Given the description of an element on the screen output the (x, y) to click on. 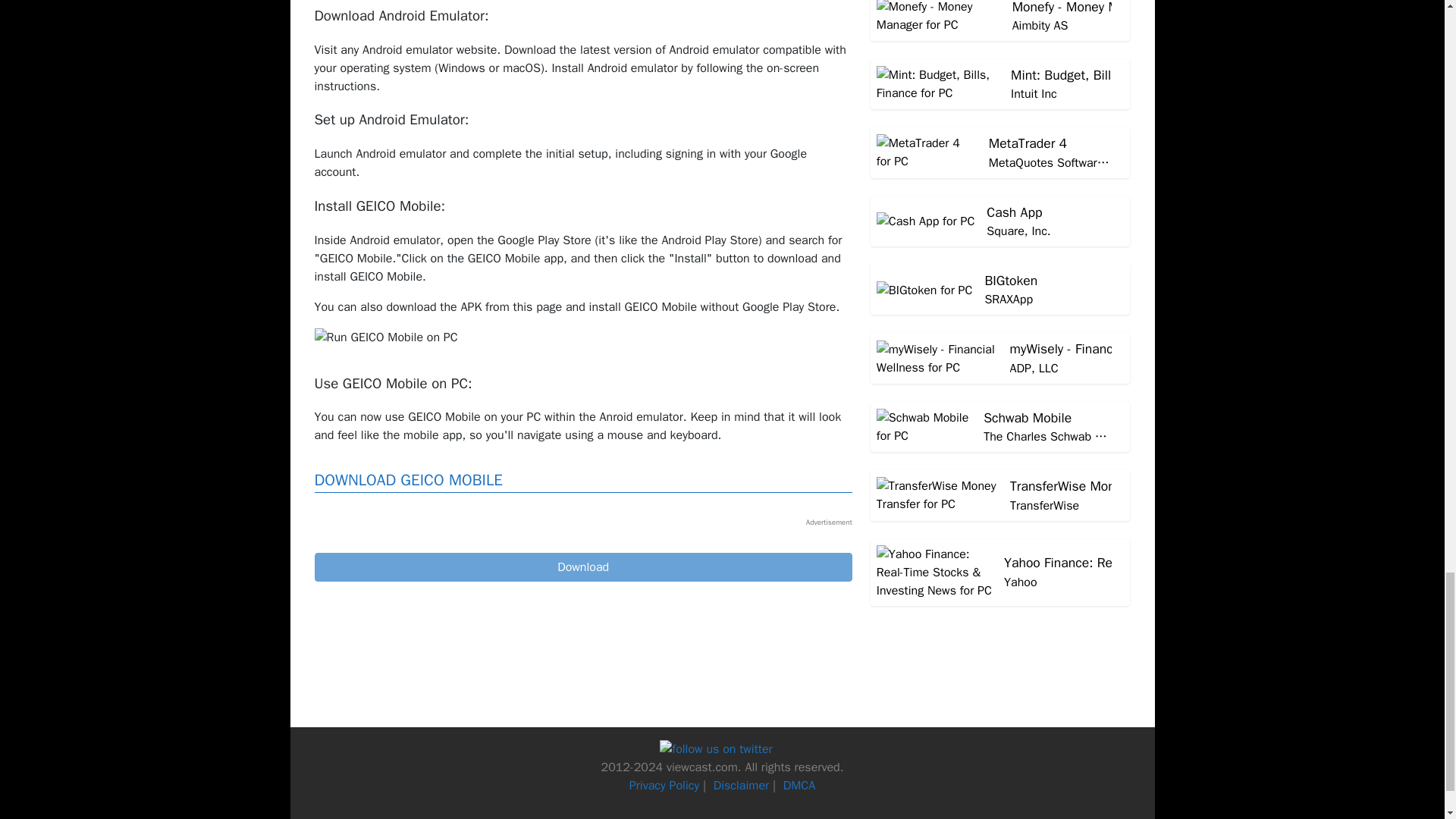
GEICO Mobile (582, 566)
Download (582, 566)
Run GEICO Mobile on PC (385, 337)
